Given the description of an element on the screen output the (x, y) to click on. 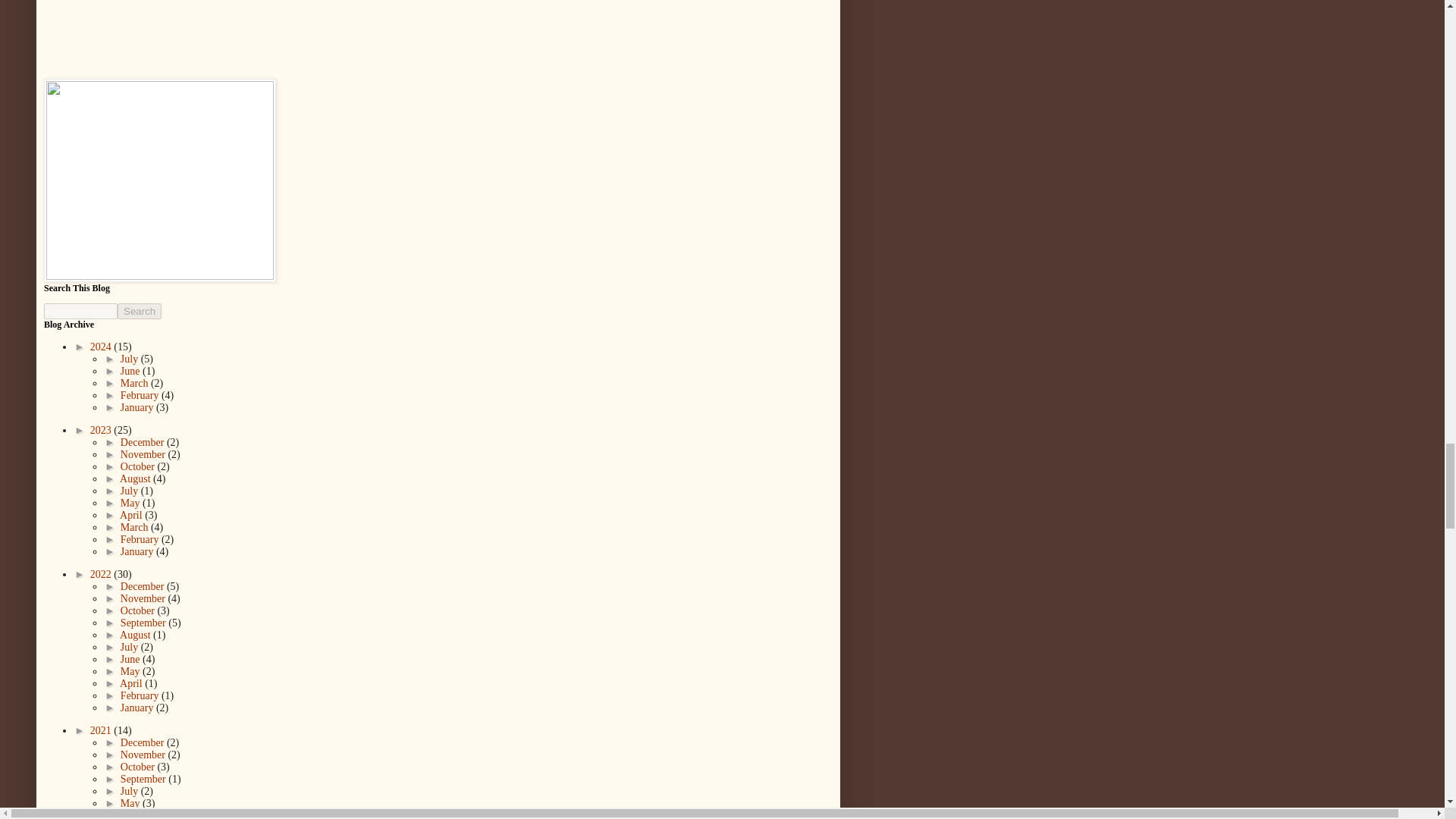
Search (139, 311)
search (80, 311)
Search (139, 311)
